Given the description of an element on the screen output the (x, y) to click on. 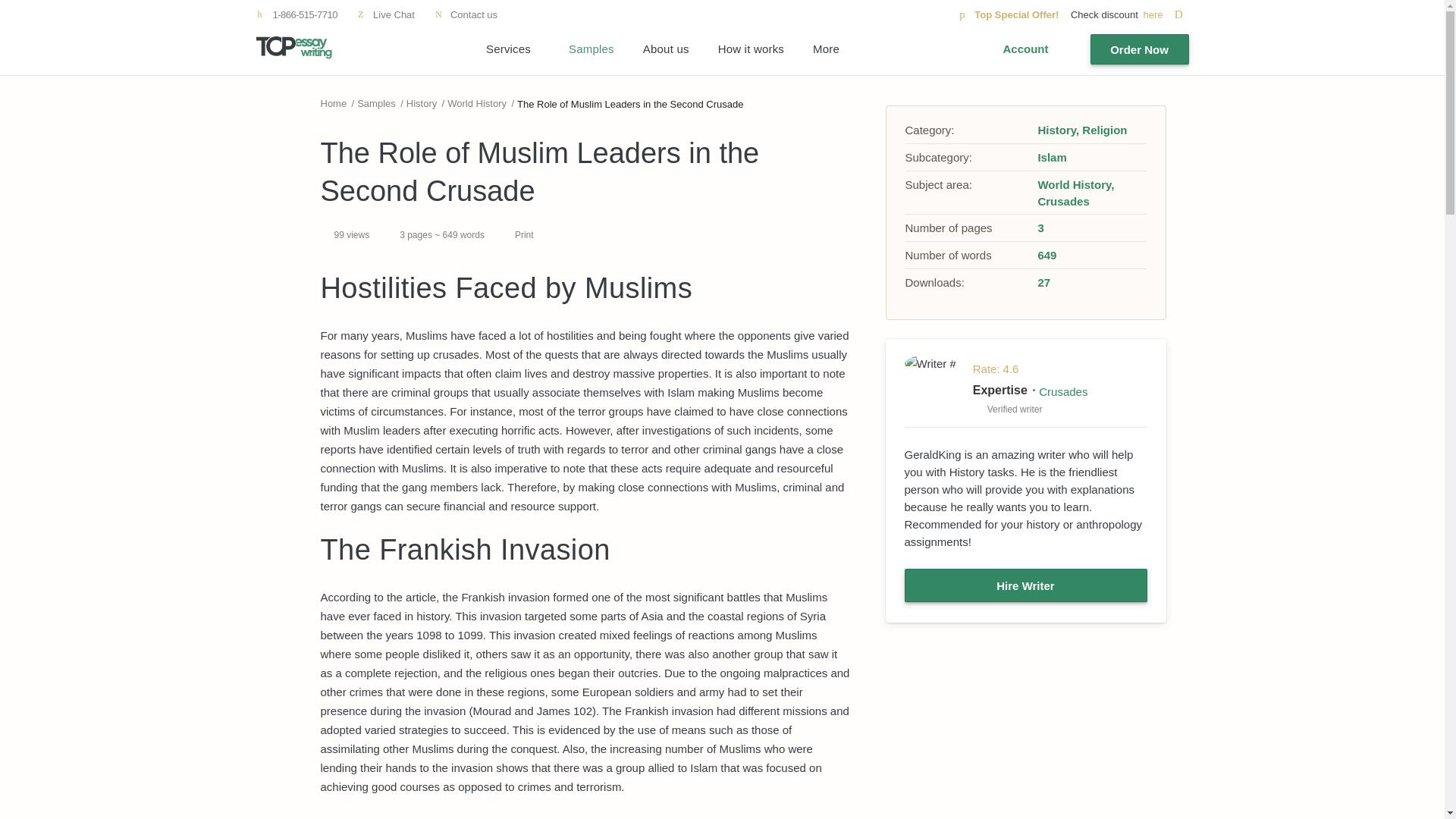
About us (665, 49)
here (1165, 14)
Live Chat (385, 14)
Samples (376, 102)
Order Now (1139, 49)
How it works (750, 49)
Contact us (465, 14)
Samples (591, 49)
Print (518, 235)
1-866-515-7710 (296, 14)
